Given the description of an element on the screen output the (x, y) to click on. 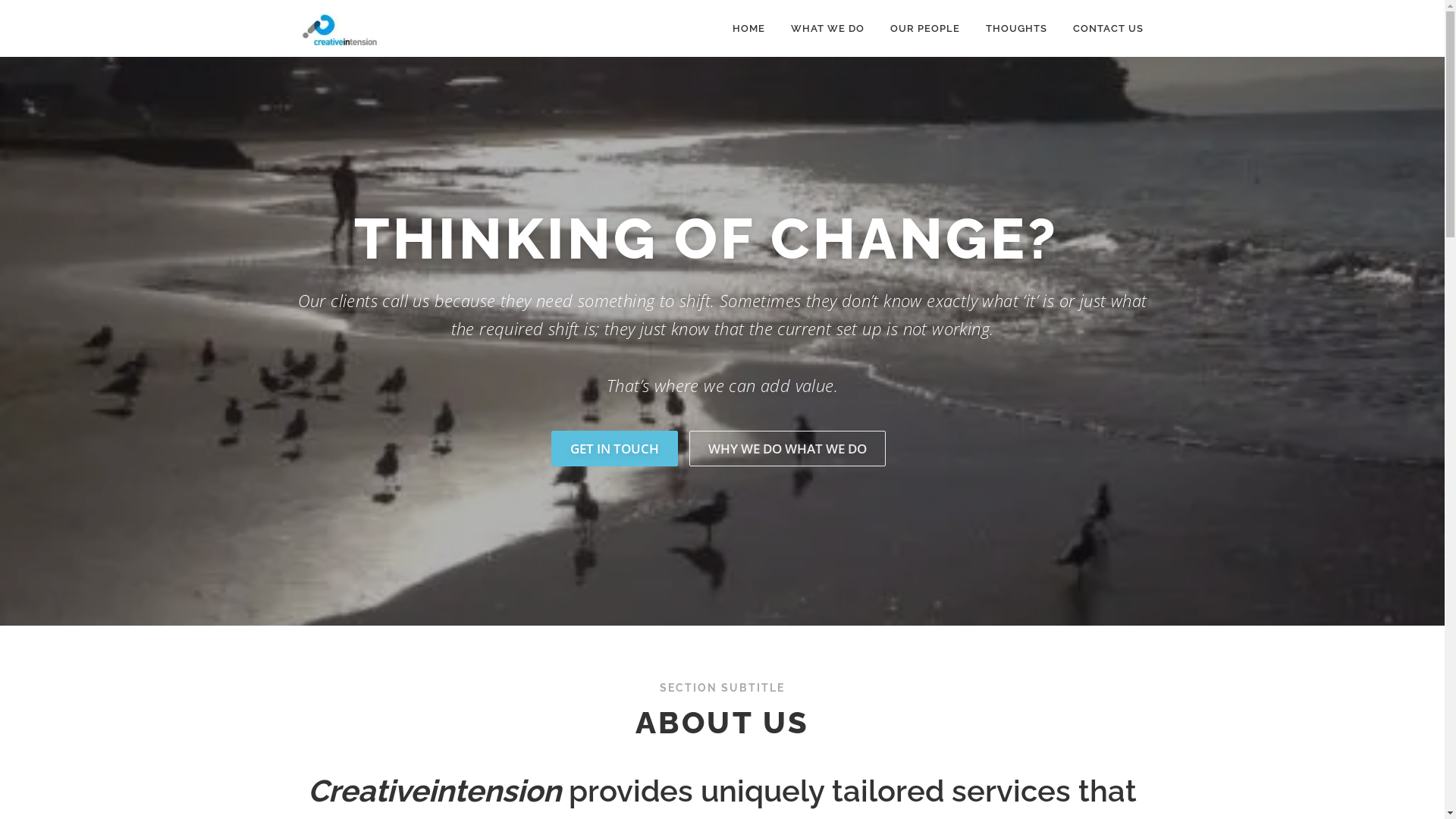
WHY WE DO WHAT WE DO Element type: text (787, 448)
WHAT WE DO Element type: text (827, 28)
CONTACT US Element type: text (1101, 28)
GET IN TOUCH Element type: text (614, 448)
THOUGHTS Element type: text (1015, 28)
OUR PEOPLE Element type: text (924, 28)
HOME Element type: text (747, 28)
